Given the description of an element on the screen output the (x, y) to click on. 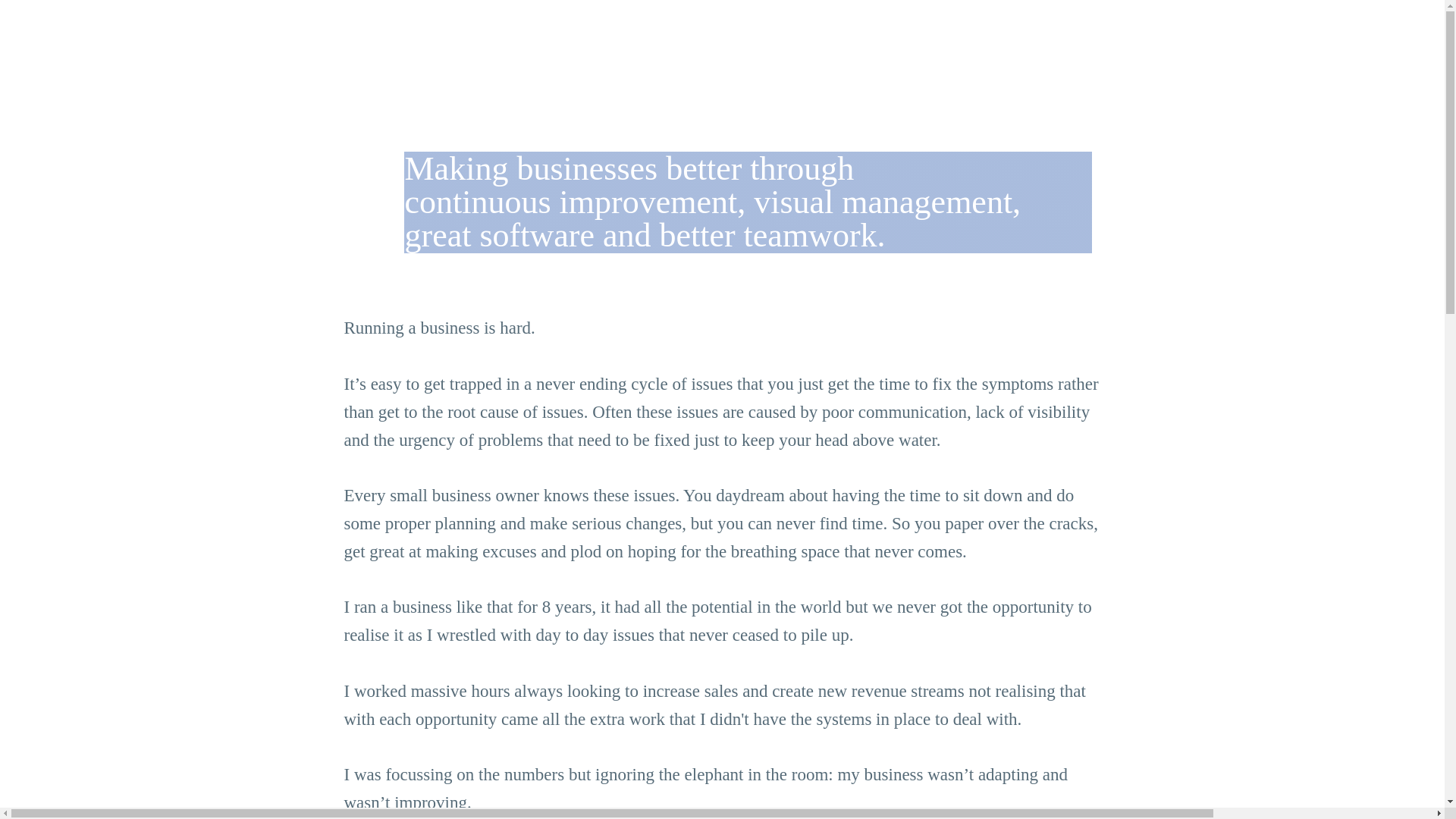
Logo - Cobalt (722, 54)
